Given the description of an element on the screen output the (x, y) to click on. 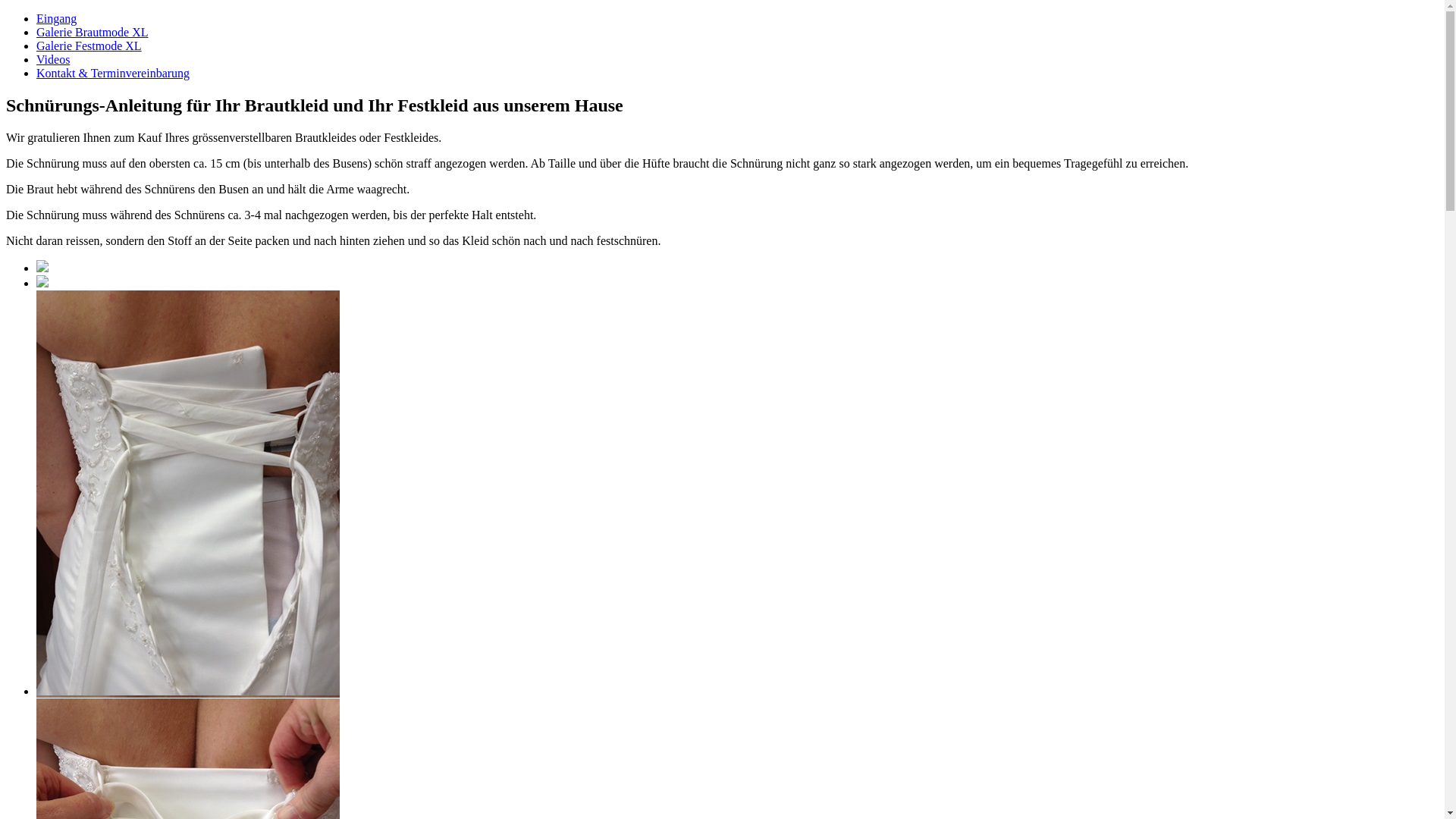
Galerie Festmode XL Element type: text (88, 45)
Videos Element type: text (52, 59)
Galerie Brautmode XL Element type: text (92, 31)
Kontakt & Terminvereinbarung Element type: text (112, 72)
Eingang Element type: text (56, 18)
